Given the description of an element on the screen output the (x, y) to click on. 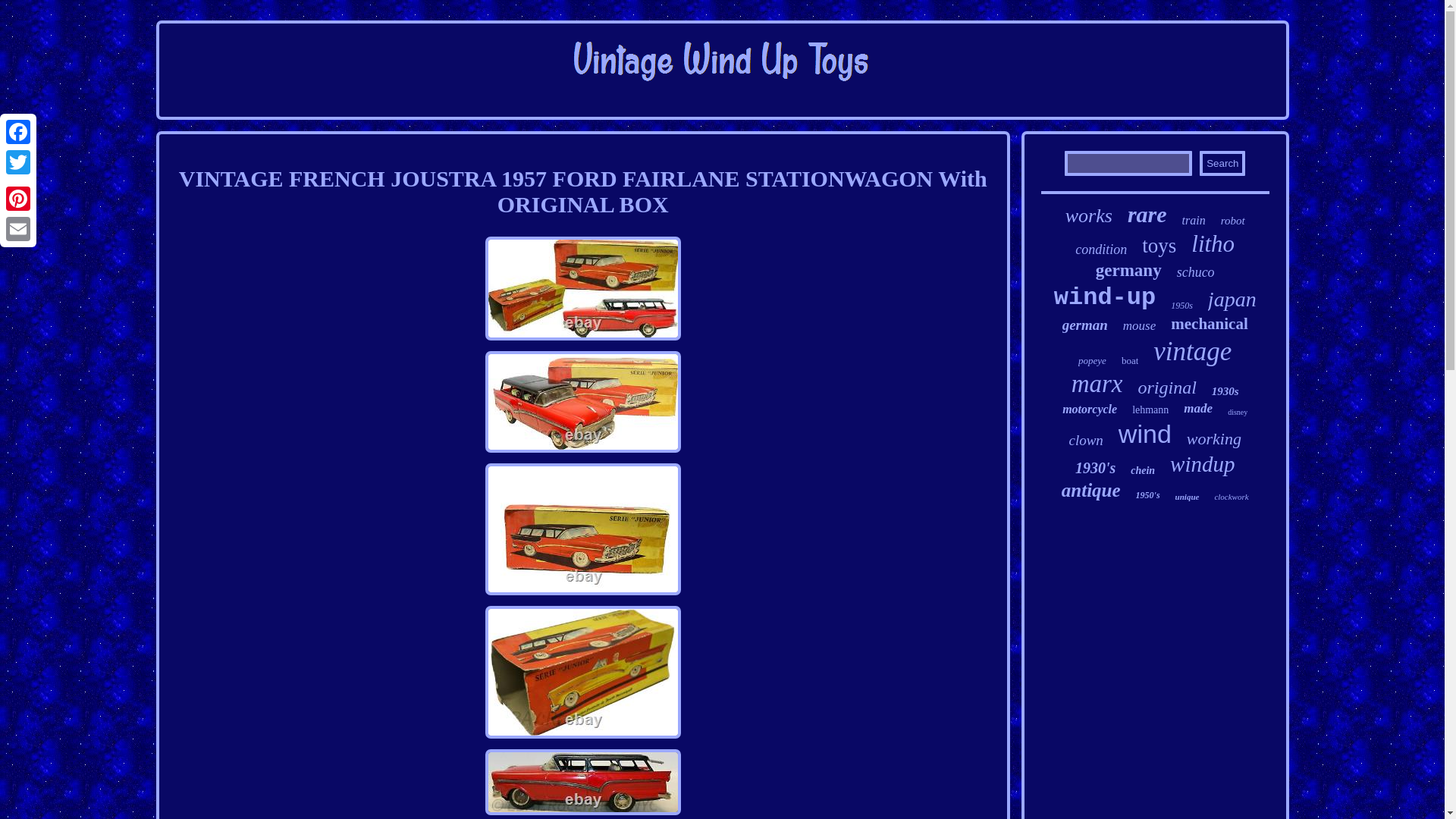
Email (17, 228)
1950s (1181, 306)
train (1193, 220)
Search (1221, 163)
robot (1232, 220)
Search (1221, 163)
litho (1212, 243)
condition (1100, 249)
Facebook (17, 132)
rare (1146, 214)
toys (1158, 245)
german (1085, 324)
